Given the description of an element on the screen output the (x, y) to click on. 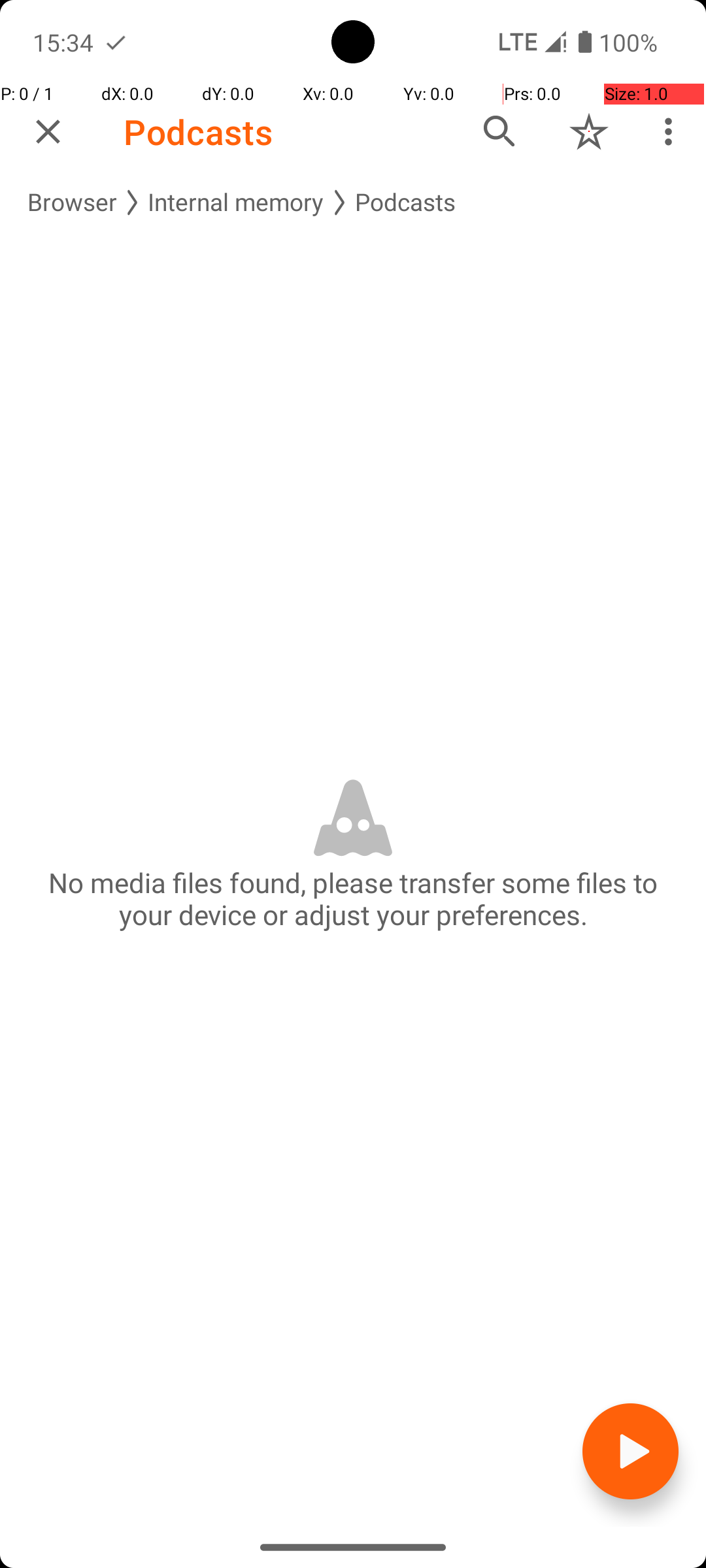
Browser Element type: android.widget.TextView (72, 202)
